Given the description of an element on the screen output the (x, y) to click on. 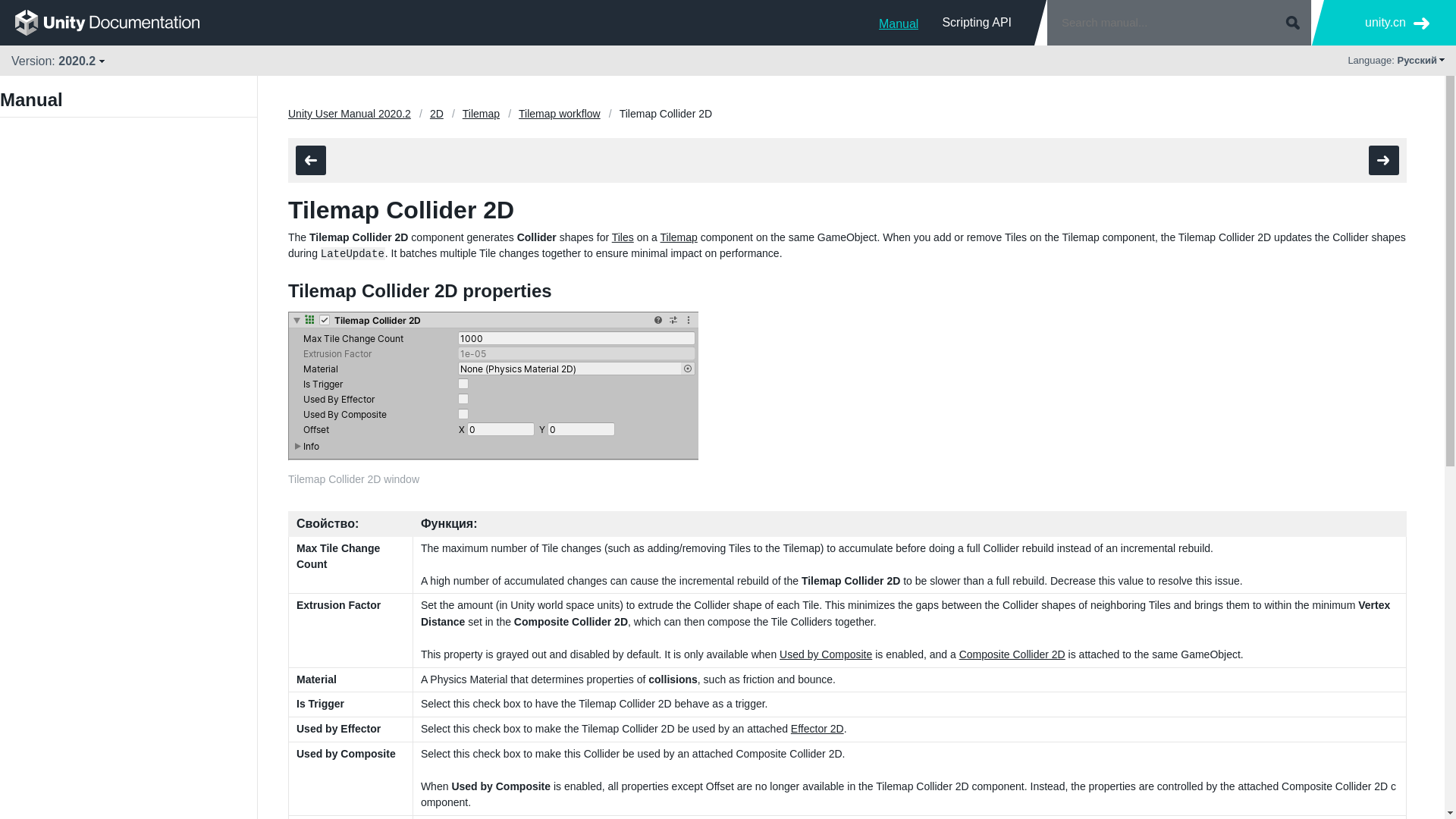
Scripting API (976, 22)
unity.cn (1397, 22)
Manual (898, 22)
